Given the description of an element on the screen output the (x, y) to click on. 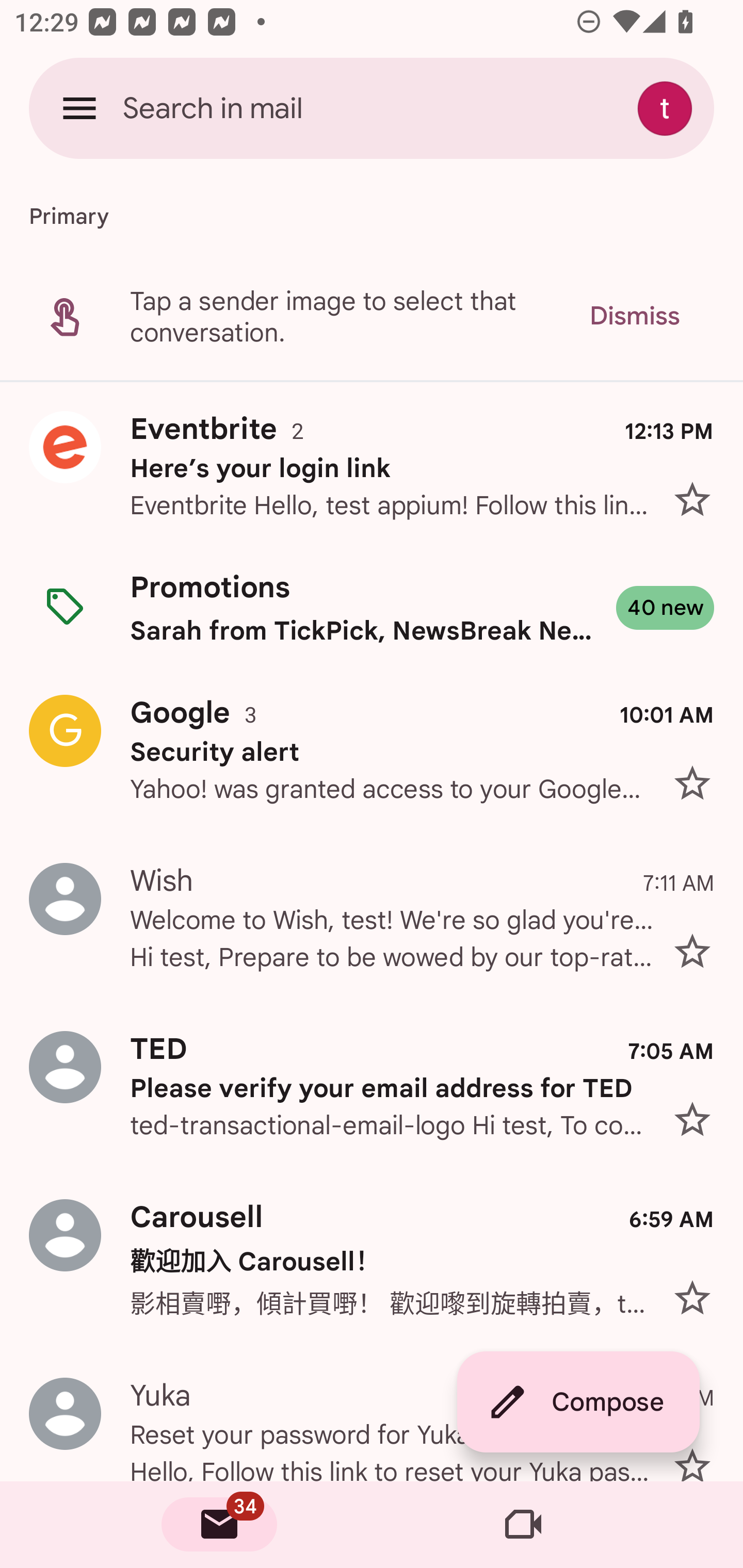
Open navigation drawer (79, 108)
Dismiss Dismiss tip (634, 315)
Compose (577, 1401)
Meet (523, 1524)
